Given the description of an element on the screen output the (x, y) to click on. 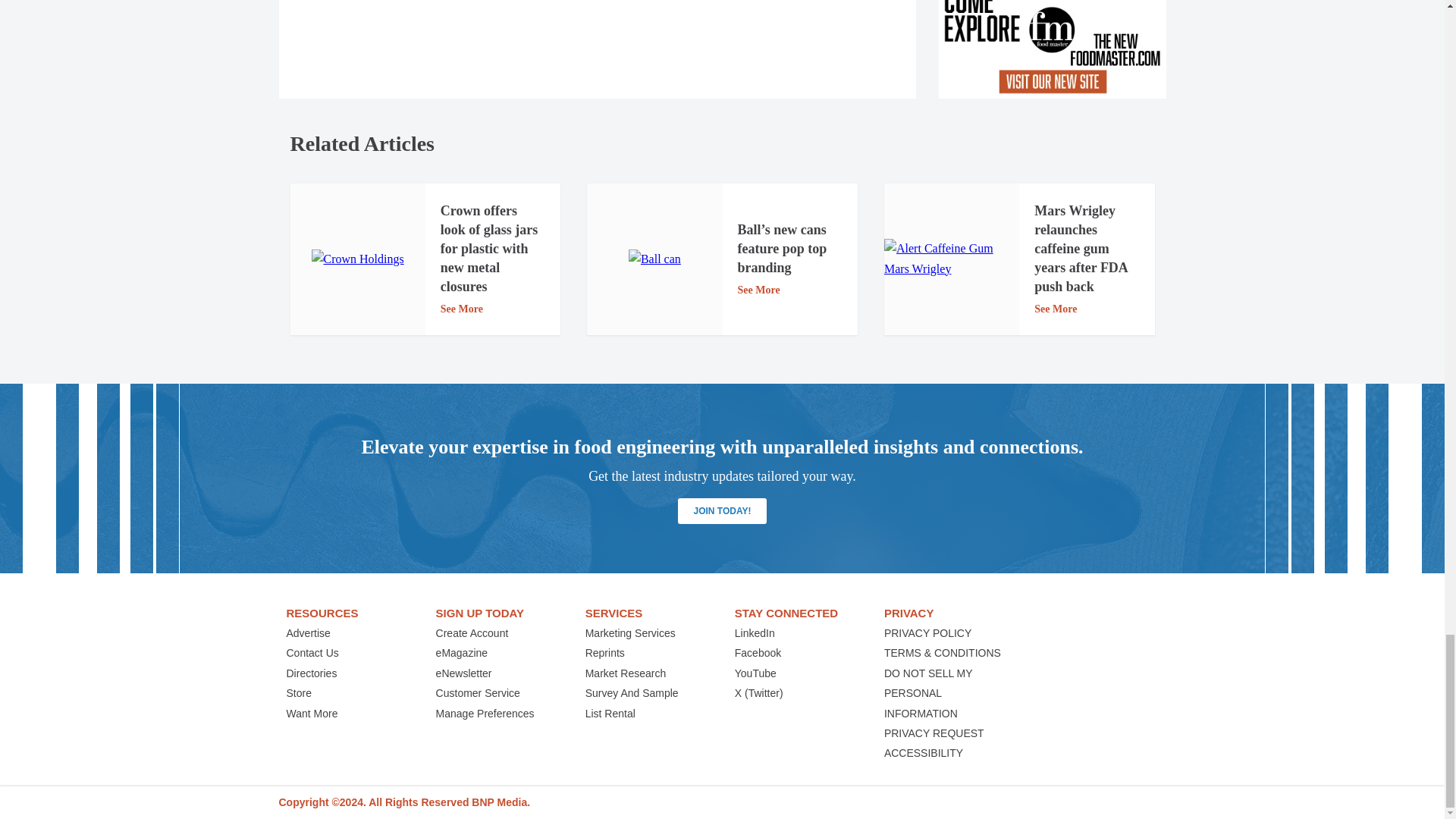
Crown Holdings (357, 259)
Alert Caffeine Gum Mars Wrigley (951, 259)
Ball can (654, 259)
